Given the description of an element on the screen output the (x, y) to click on. 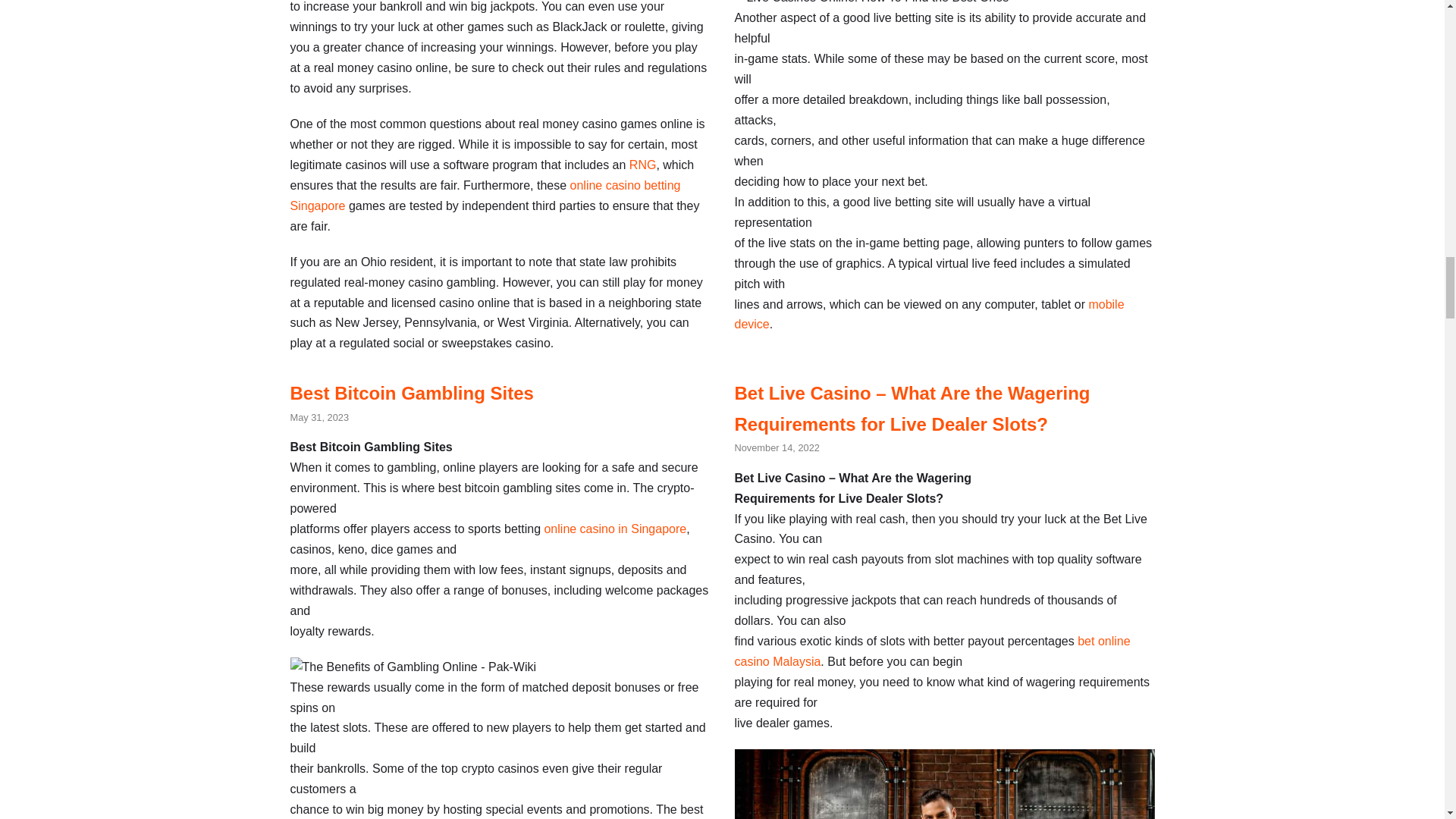
mobile device (928, 314)
1:46 pm (775, 447)
bet online casino Malaysia (931, 651)
online casino in Singapore (614, 528)
6:37 am (319, 417)
online casino betting Singapore (484, 195)
May 31, 2023 (319, 417)
RNG (642, 164)
November 14, 2022 (775, 447)
Best Bitcoin Gambling Sites (410, 393)
